Given the description of an element on the screen output the (x, y) to click on. 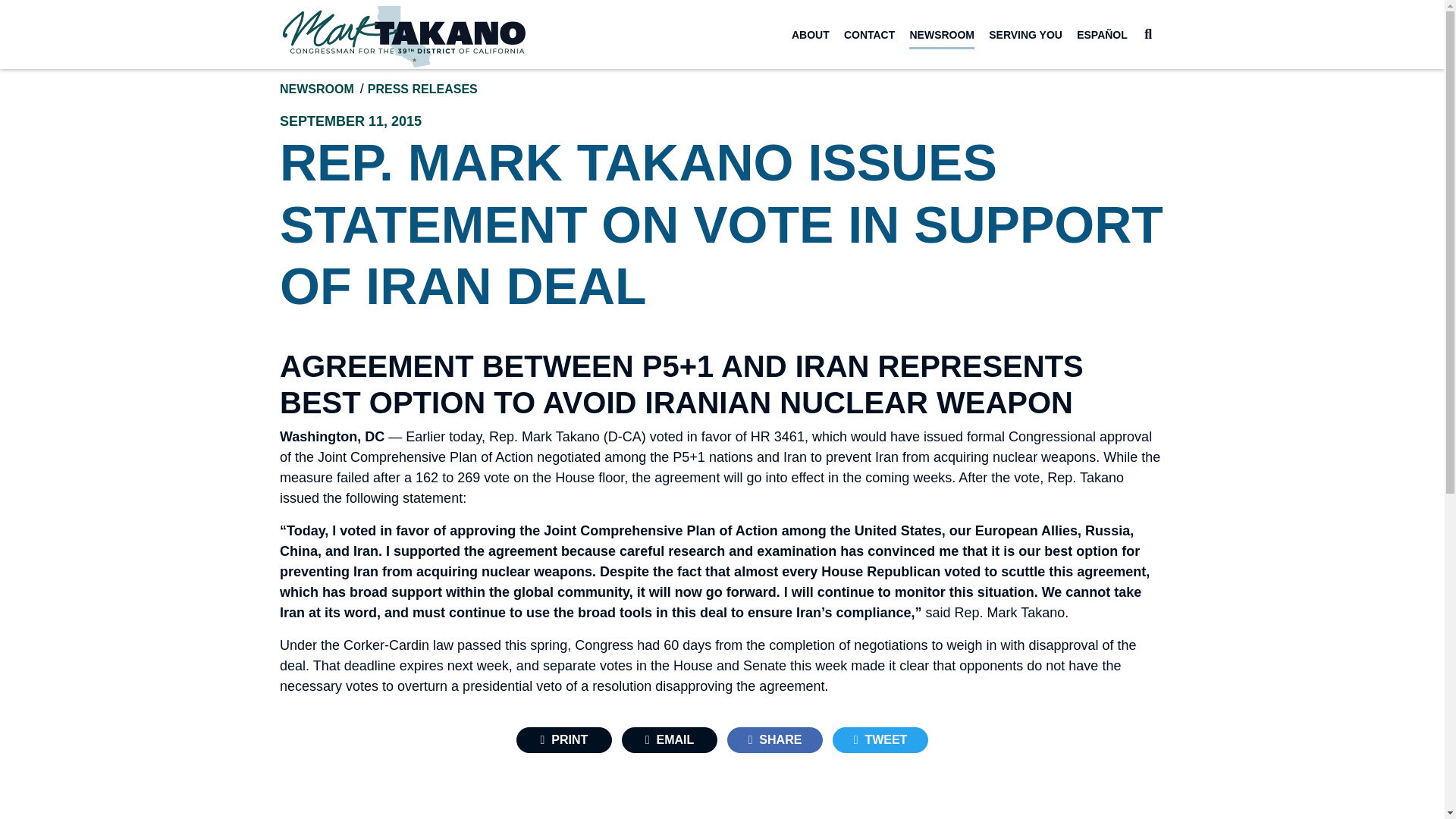
Header internal site logo (403, 36)
